Given the description of an element on the screen output the (x, y) to click on. 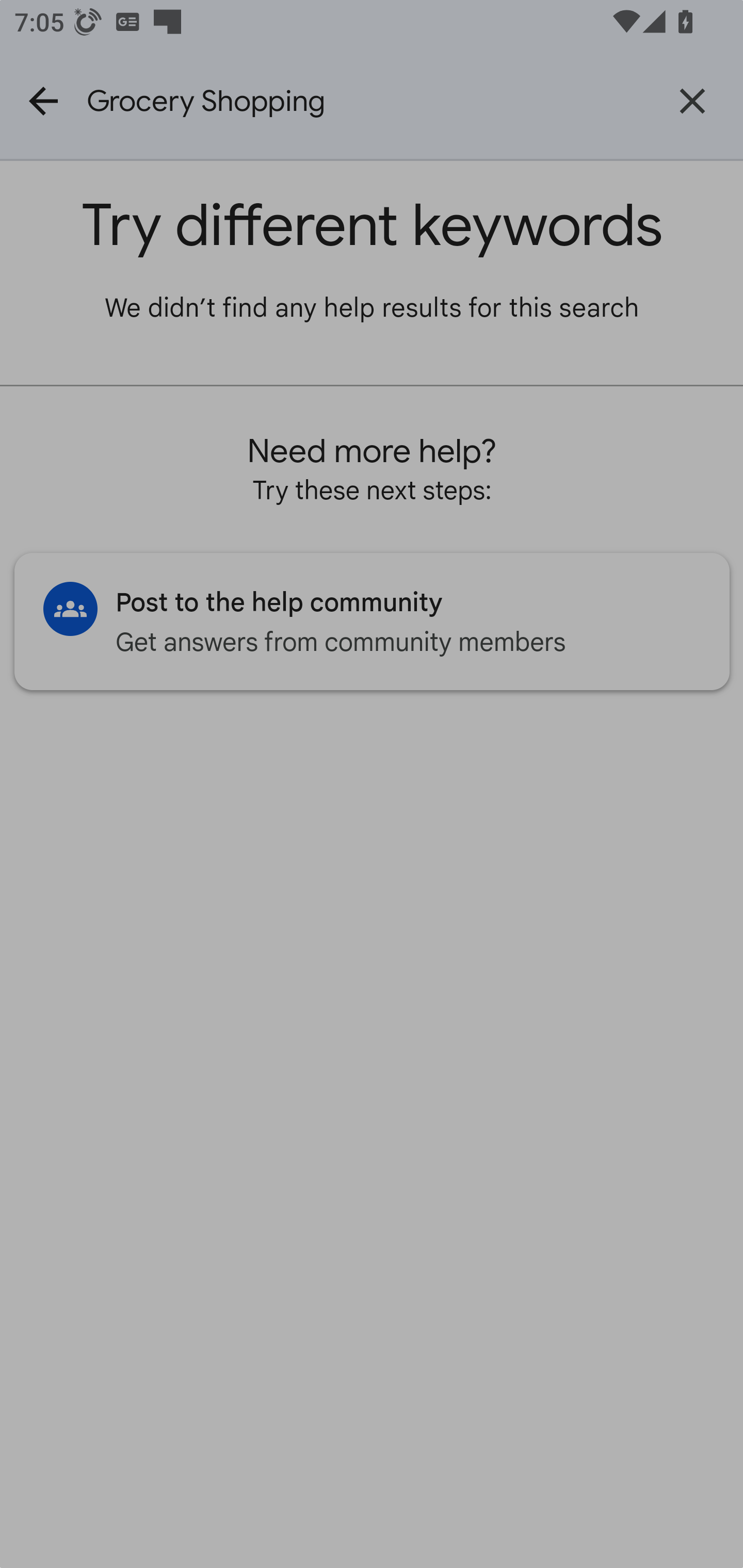
Navigate up (43, 101)
Grocery Shopping (363, 101)
More options (696, 101)
